Given the description of an element on the screen output the (x, y) to click on. 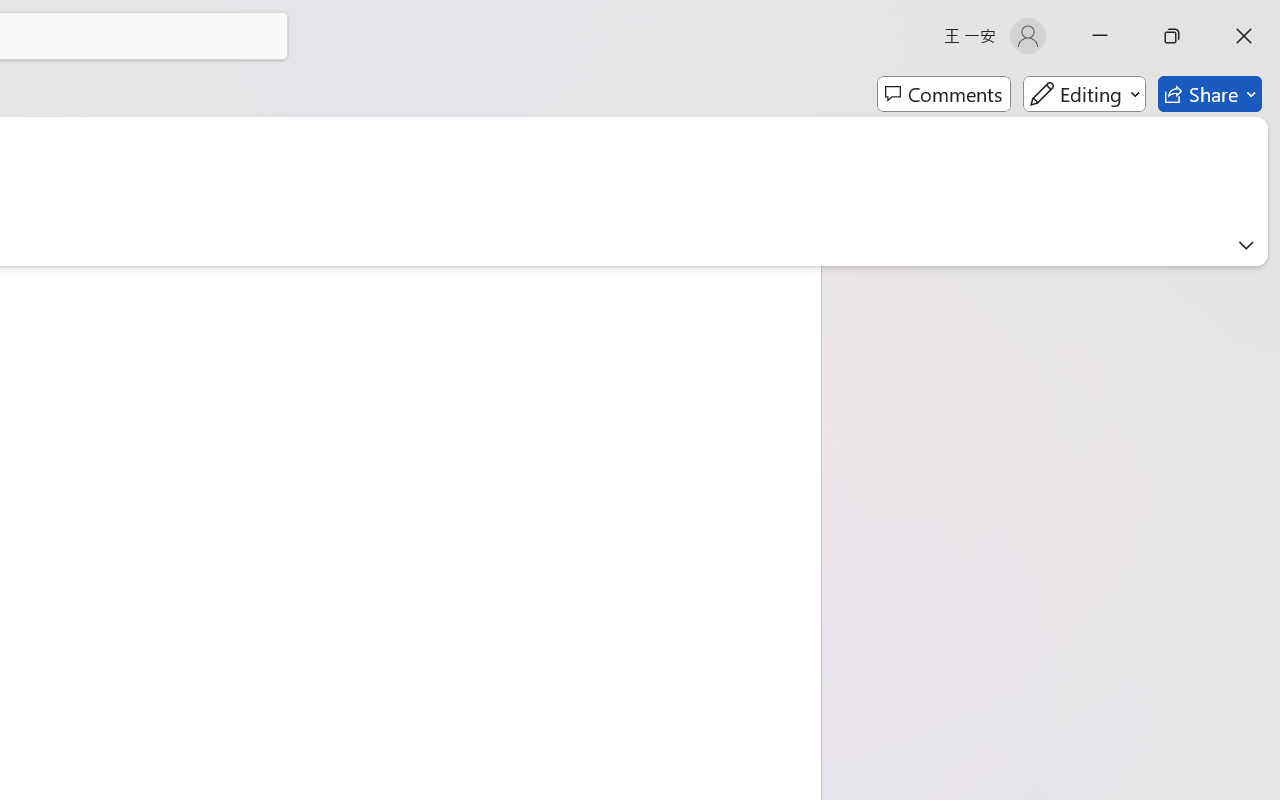
Share (1210, 94)
Mode (1083, 94)
Close (1244, 36)
Restore Down (1172, 36)
Ribbon Display Options (1246, 245)
Comments (943, 94)
Minimize (1099, 36)
